Given the description of an element on the screen output the (x, y) to click on. 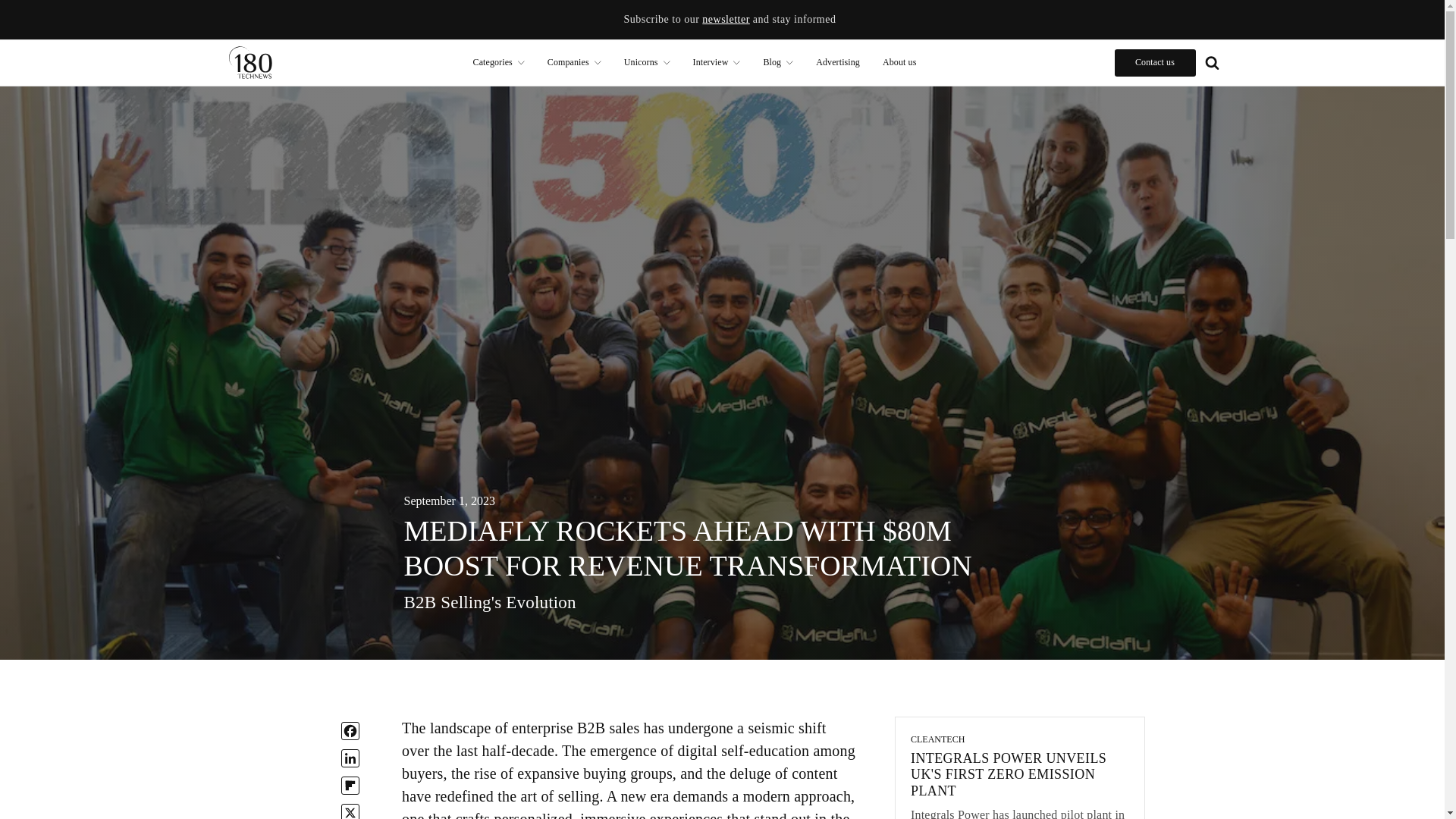
Companies (573, 62)
Interview (716, 62)
X (349, 811)
Facebook (349, 730)
Linkedin (349, 758)
Blog (778, 62)
Contact us (1155, 62)
Flipboard (349, 785)
Advertising (837, 62)
Unicorns (646, 62)
newsletter (725, 19)
About us (898, 62)
Categories (498, 62)
